Given the description of an element on the screen output the (x, y) to click on. 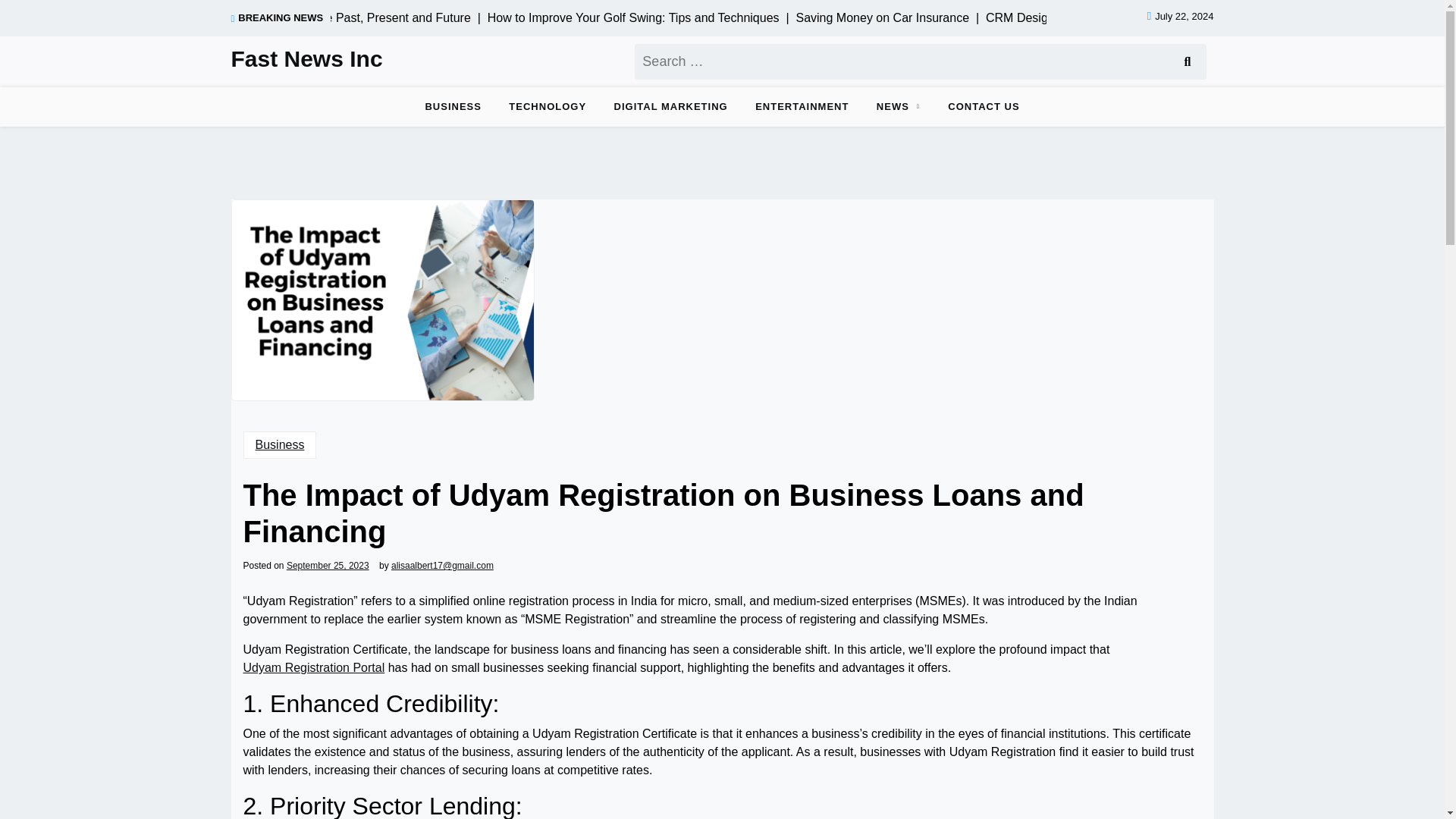
TECHNOLOGY (547, 106)
Udyam Registration Portal (313, 668)
DIGITAL MARKETING (670, 106)
Fast News Inc (305, 58)
BUSINESS (452, 106)
Search (1186, 61)
NEWS (892, 106)
Search (1186, 61)
CONTACT US (983, 106)
ENTERTAINMENT (801, 106)
Business (279, 444)
September 25, 2023 (327, 565)
Search (1186, 61)
